Given the description of an element on the screen output the (x, y) to click on. 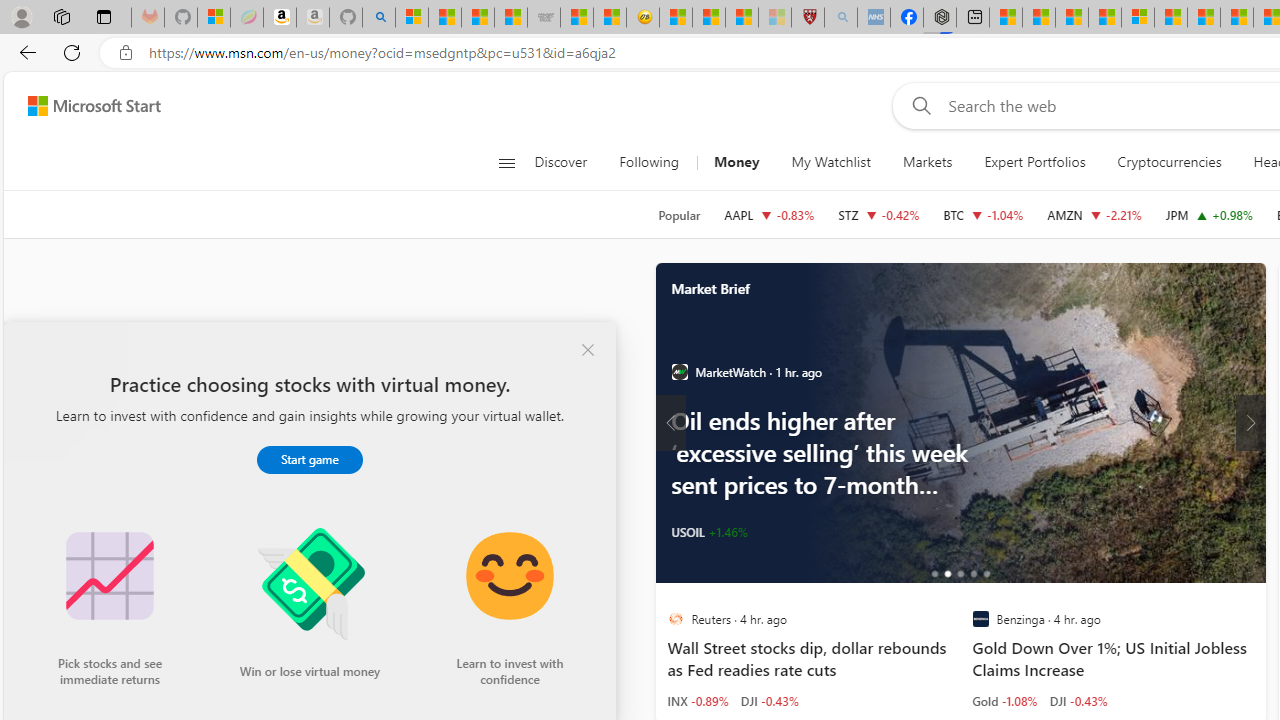
AAPL APPLE INC. decrease 224.53 -1.87 -0.83% (768, 214)
Benzinga (980, 619)
MarketWatch (679, 372)
Popular (679, 215)
close popup (588, 349)
Cryptocurrencies (1168, 162)
Start game (310, 459)
